Given the description of an element on the screen output the (x, y) to click on. 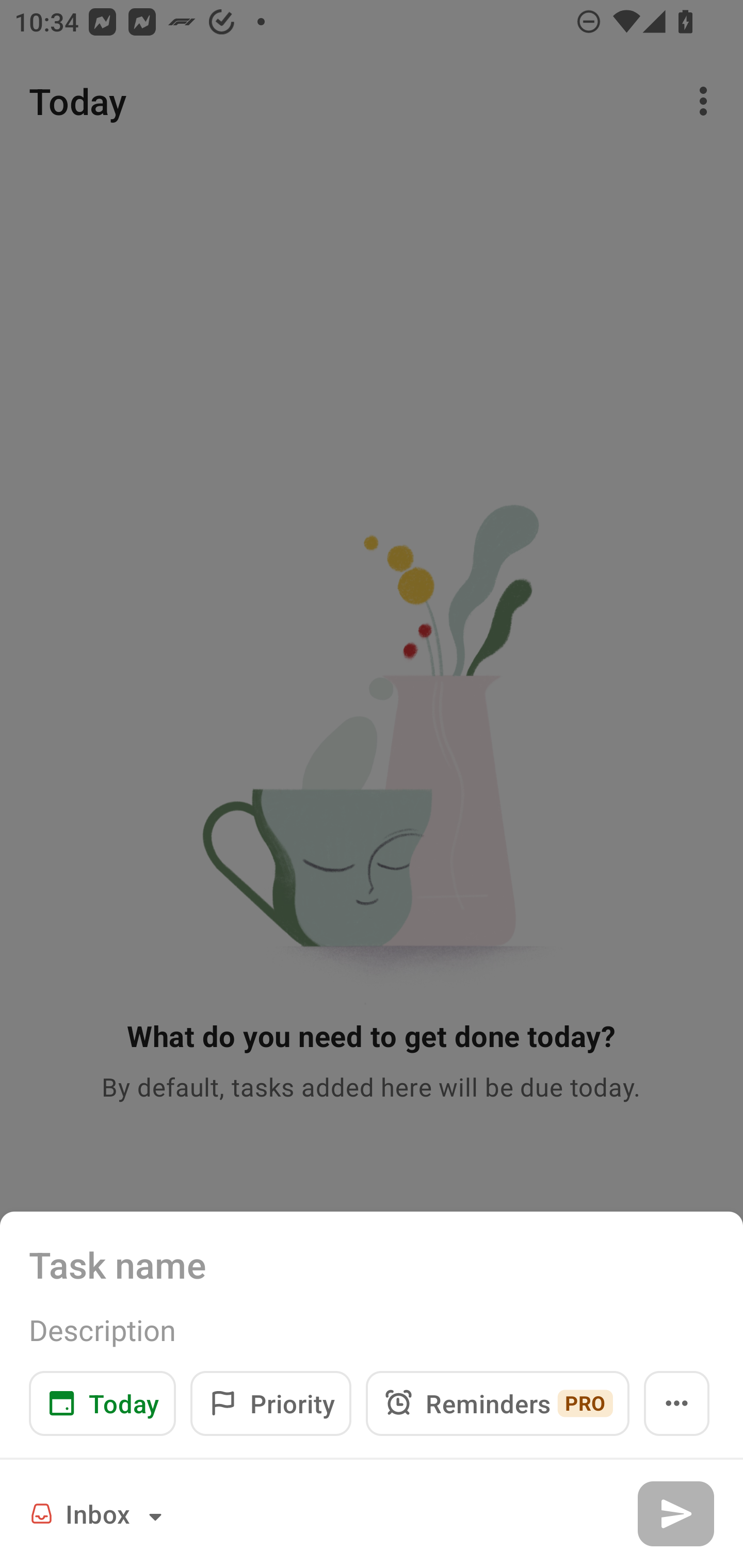
Task name (371, 1264)
Description (371, 1330)
Today Date (102, 1403)
Priority (270, 1403)
Reminders PRO Reminders (497, 1403)
Open menu (676, 1403)
Inbox Project (99, 1513)
Add (675, 1513)
